Given the description of an element on the screen output the (x, y) to click on. 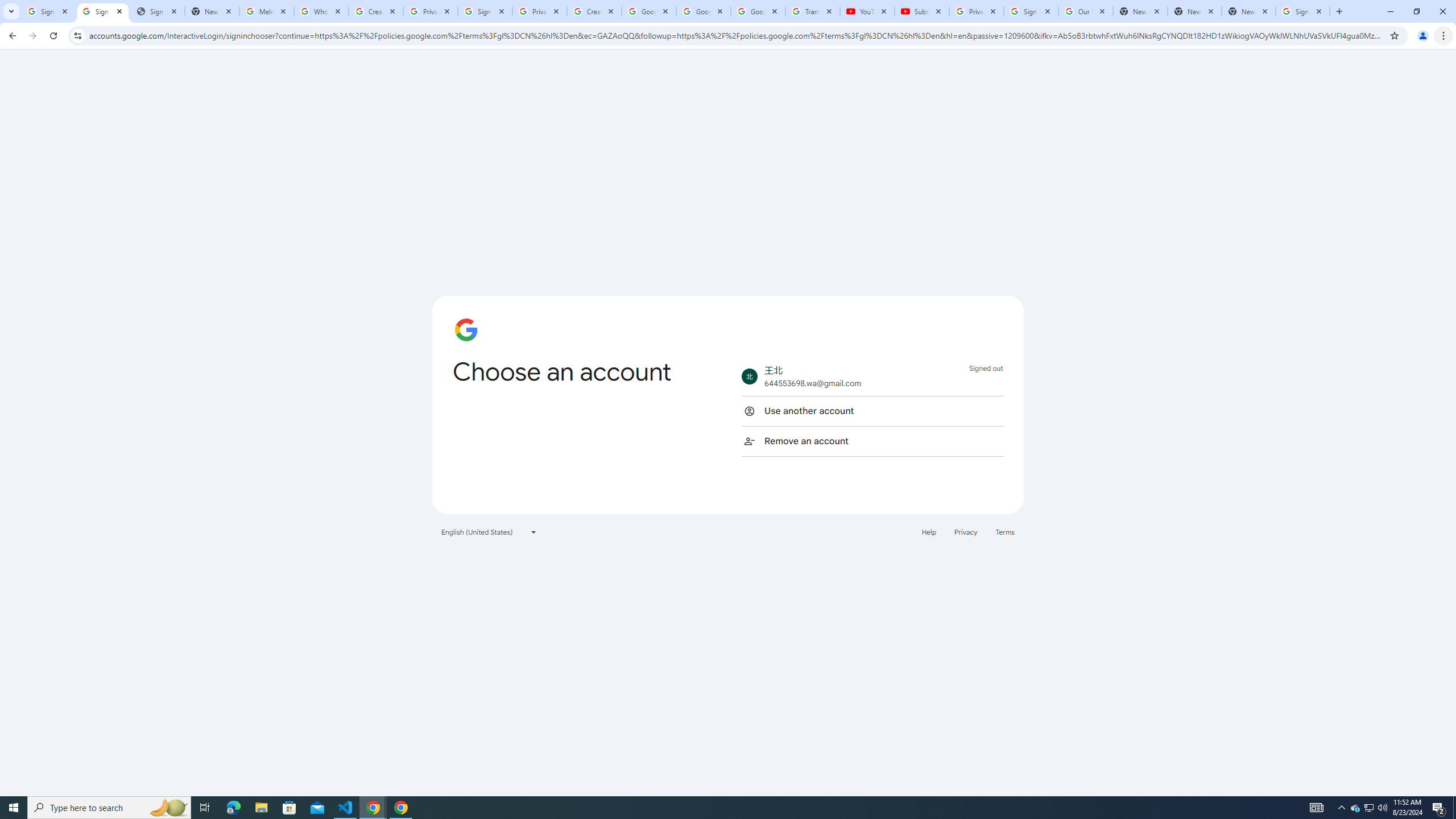
Who is my administrator? - Google Account Help (320, 11)
Remove an account (871, 440)
Sign in - Google Accounts (1303, 11)
Subscriptions - YouTube (921, 11)
Sign in - Google Accounts (48, 11)
Sign In - USA TODAY (157, 11)
